Given the description of an element on the screen output the (x, y) to click on. 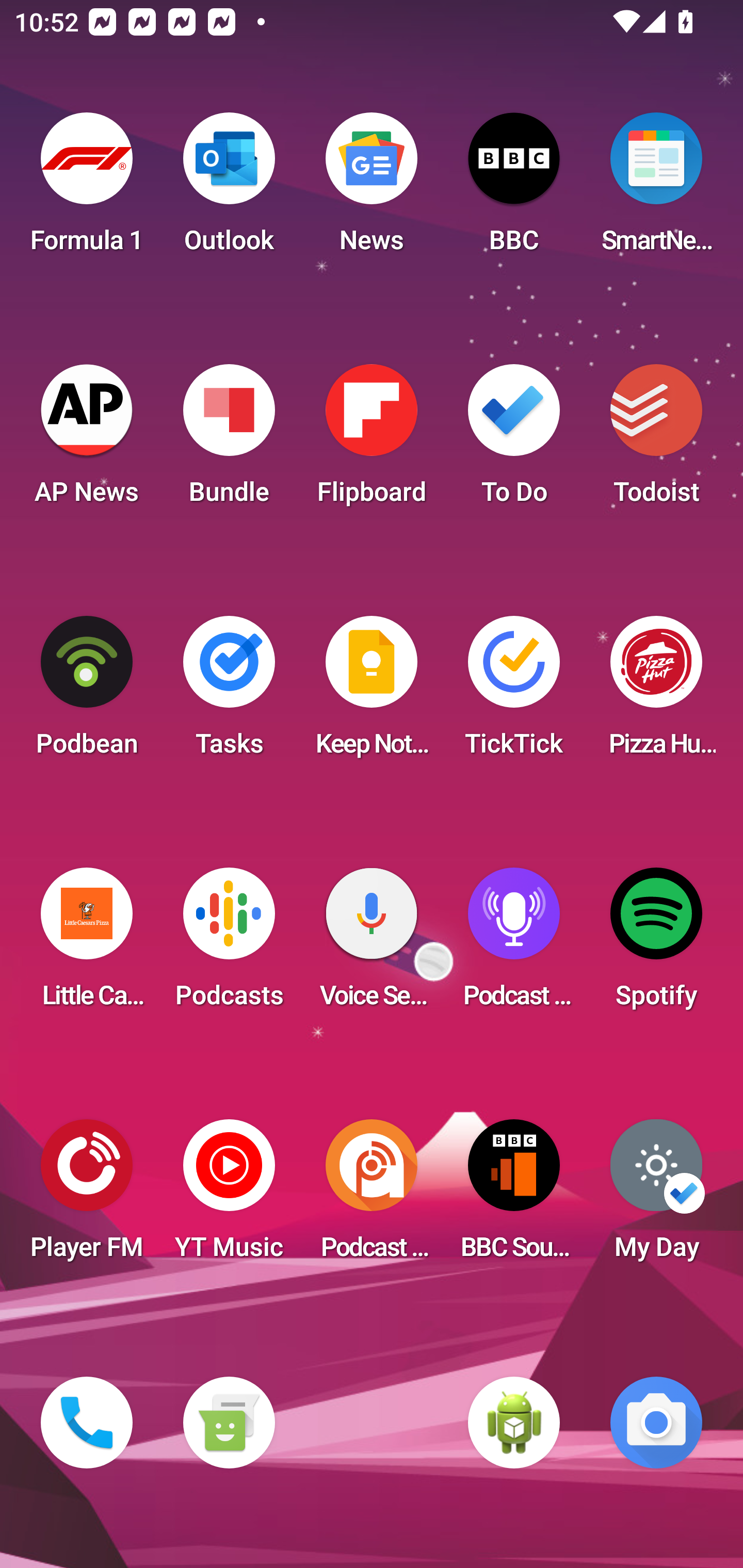
Formula 1 (86, 188)
Outlook (228, 188)
News (371, 188)
BBC (513, 188)
SmartNews (656, 188)
AP News (86, 440)
Bundle (228, 440)
Flipboard (371, 440)
To Do (513, 440)
Todoist (656, 440)
Podbean (86, 692)
Tasks (228, 692)
Keep Notes (371, 692)
TickTick (513, 692)
Pizza Hut HK & Macau (656, 692)
Little Caesars Pizza (86, 943)
Podcasts (228, 943)
Voice Search (371, 943)
Podcast Player (513, 943)
Spotify (656, 943)
Player FM (86, 1195)
YT Music (228, 1195)
Podcast Addict (371, 1195)
BBC Sounds (513, 1195)
My Day (656, 1195)
Phone (86, 1422)
Messaging (228, 1422)
WebView Browser Tester (513, 1422)
Camera (656, 1422)
